Given the description of an element on the screen output the (x, y) to click on. 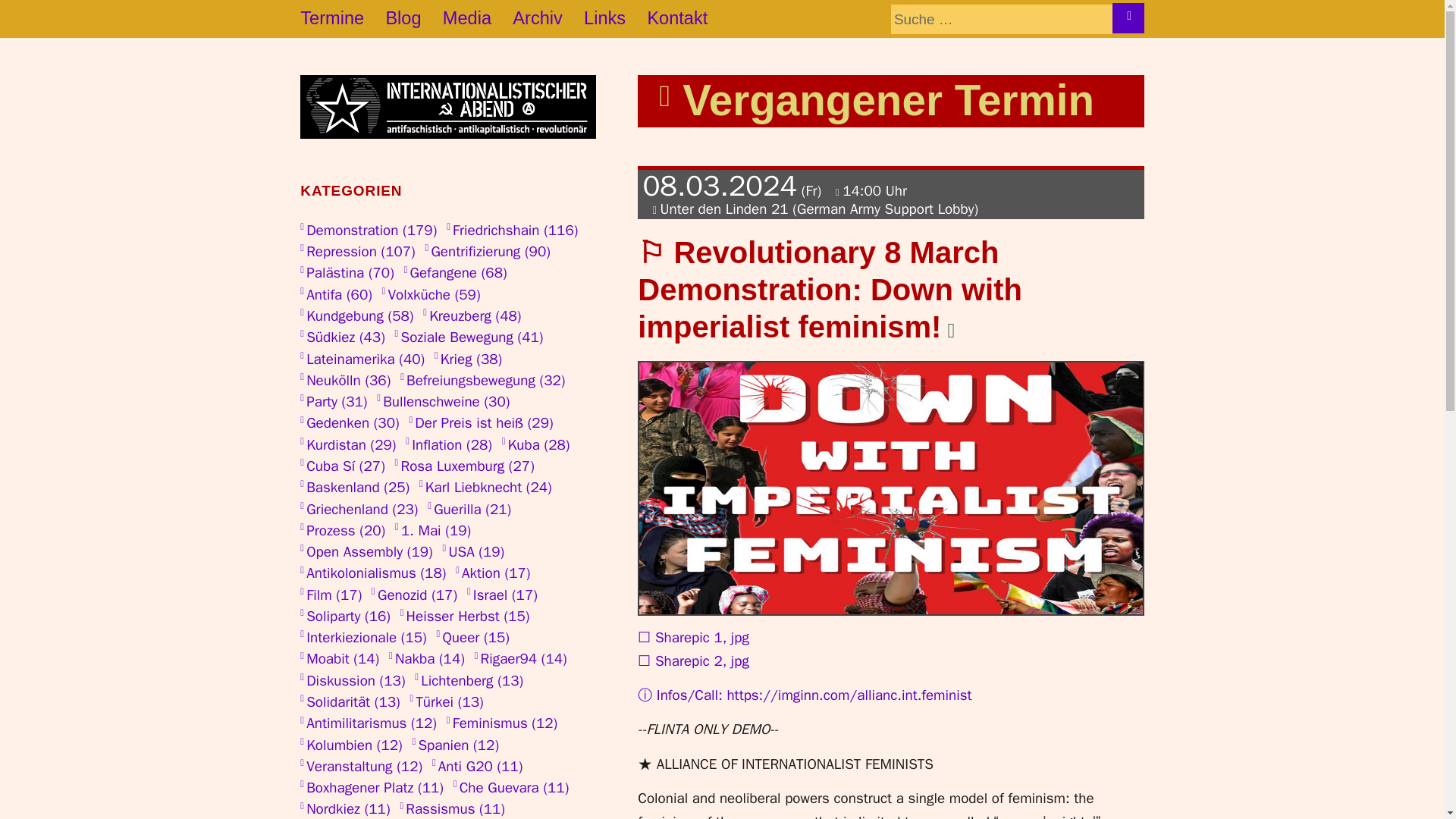
Blog (413, 18)
SUCHE (1128, 18)
Links (614, 18)
Media (477, 18)
Kontakt (687, 18)
Archiv (547, 18)
Suche (1001, 19)
Termine (342, 18)
